Given the description of an element on the screen output the (x, y) to click on. 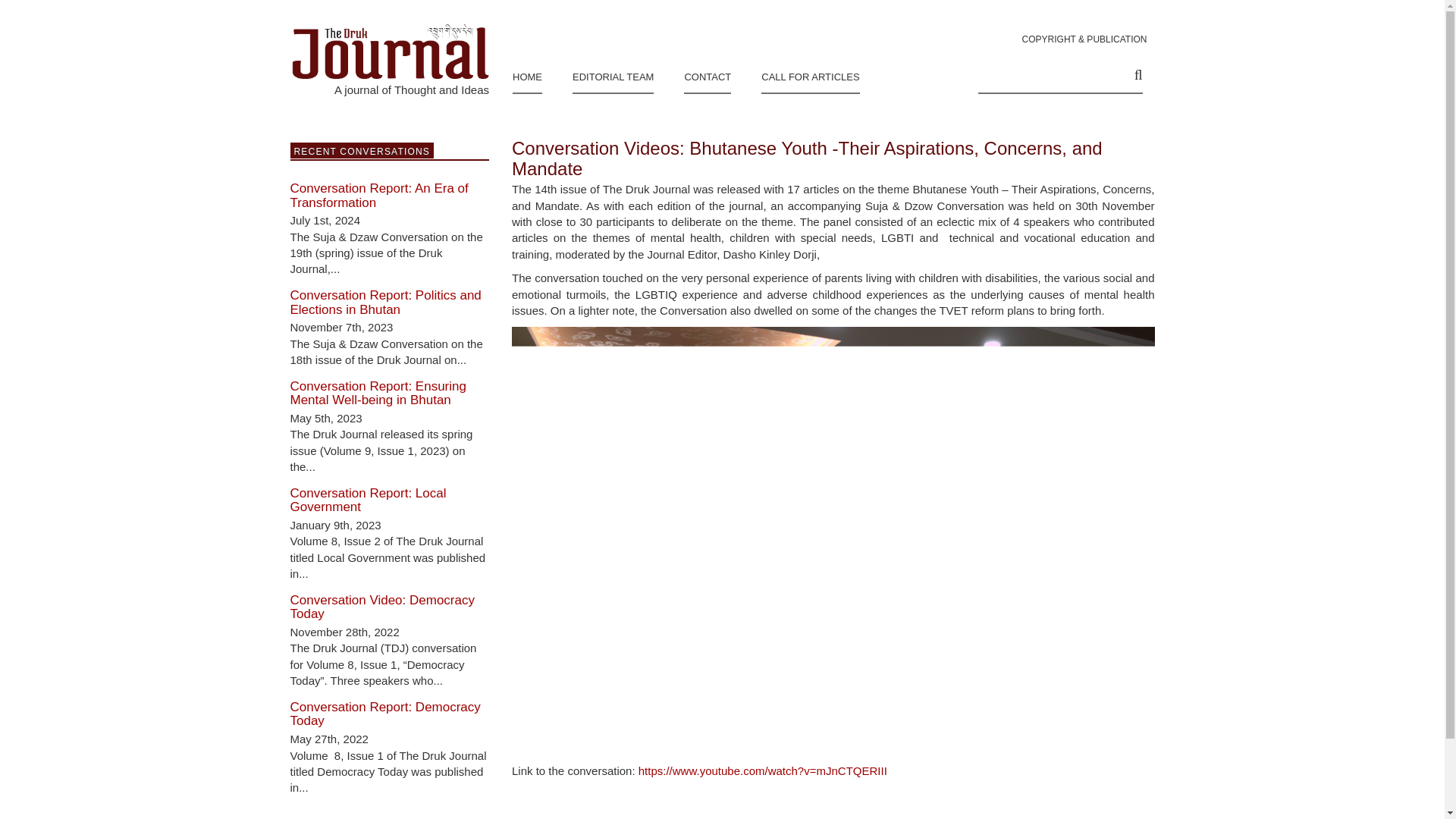
EDITORIAL TEAM (612, 74)
CONTACT (707, 74)
CALL FOR ARTICLES (810, 74)
Conversation Report: Democracy Today (384, 714)
Conversation Report: An Era of Transformation (378, 194)
Conversation Video: Democracy Today (381, 606)
Conversation Report: Ensuring Mental Well-being in Bhutan (377, 393)
Contact (707, 74)
Editorial Team (612, 74)
Conversation Report: Local Government (367, 500)
